Given the description of an element on the screen output the (x, y) to click on. 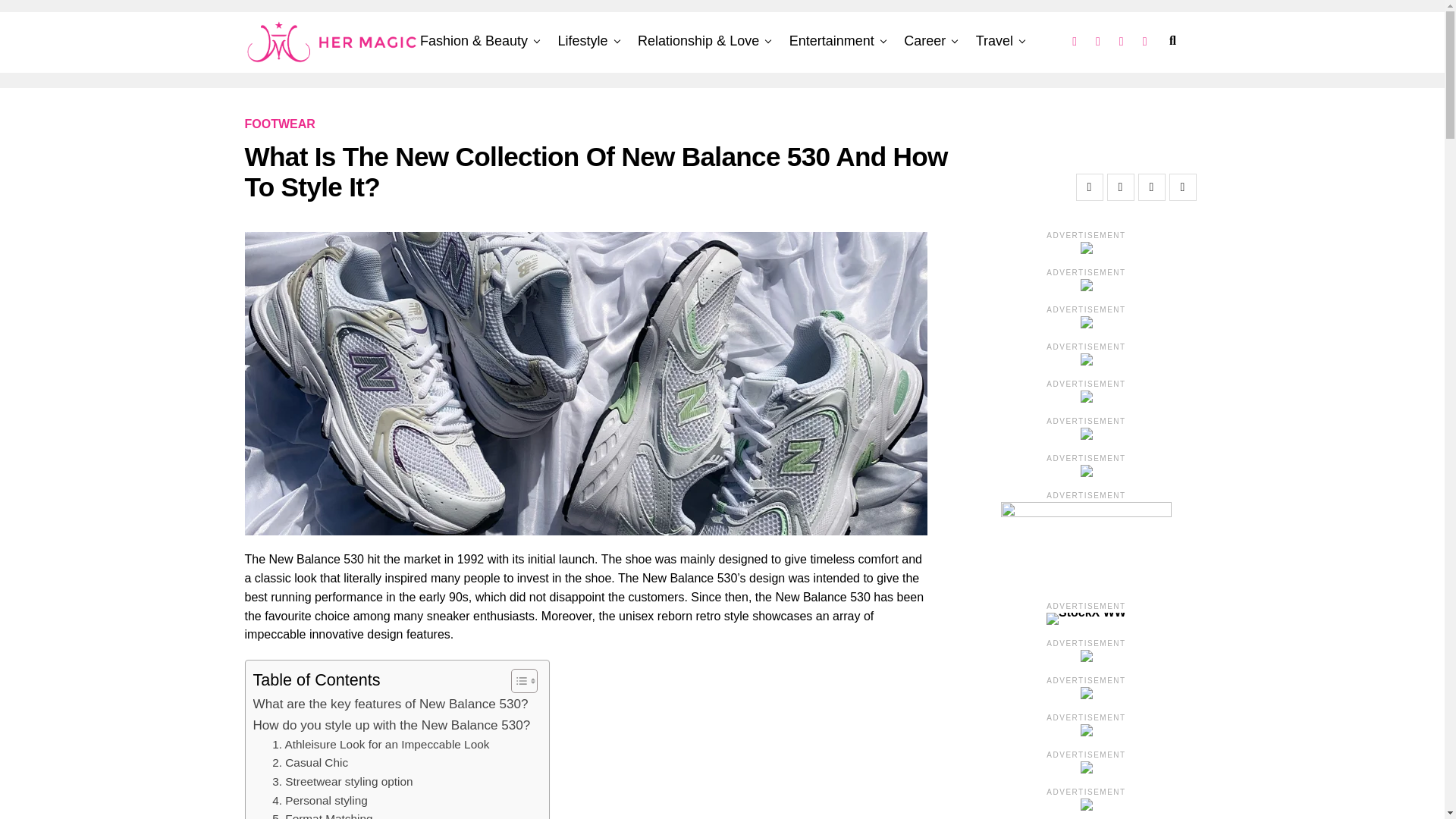
Tweet This Post (1120, 186)
Share on Facebook (1088, 186)
Lifestyle (582, 40)
Rakuten Marketing UK (61, 17)
What are the key features of New Balance 530? (390, 703)
4. Personal styling (320, 800)
